Given the description of an element on the screen output the (x, y) to click on. 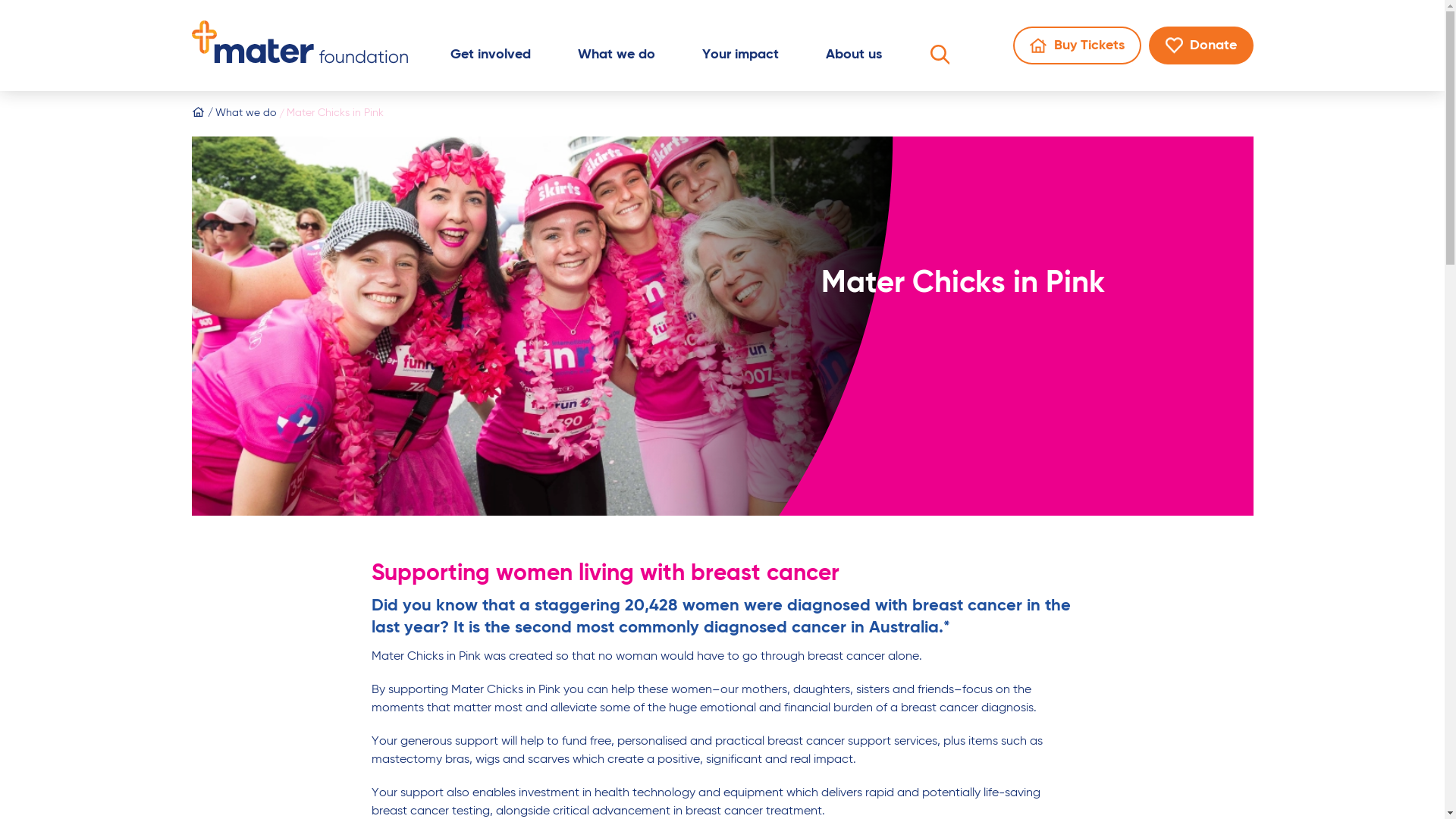
Buy Tickets
Go to Mater Lotteries page Element type: text (1077, 45)
About us Element type: text (852, 58)
Your impact Element type: text (740, 58)
Home Element type: text (197, 113)
Open search Element type: text (939, 57)
Donate
Go to donate page Element type: text (1200, 45)
What we do Element type: text (616, 58)
What we do Element type: text (240, 113)
Get involved Element type: text (490, 58)
